Given the description of an element on the screen output the (x, y) to click on. 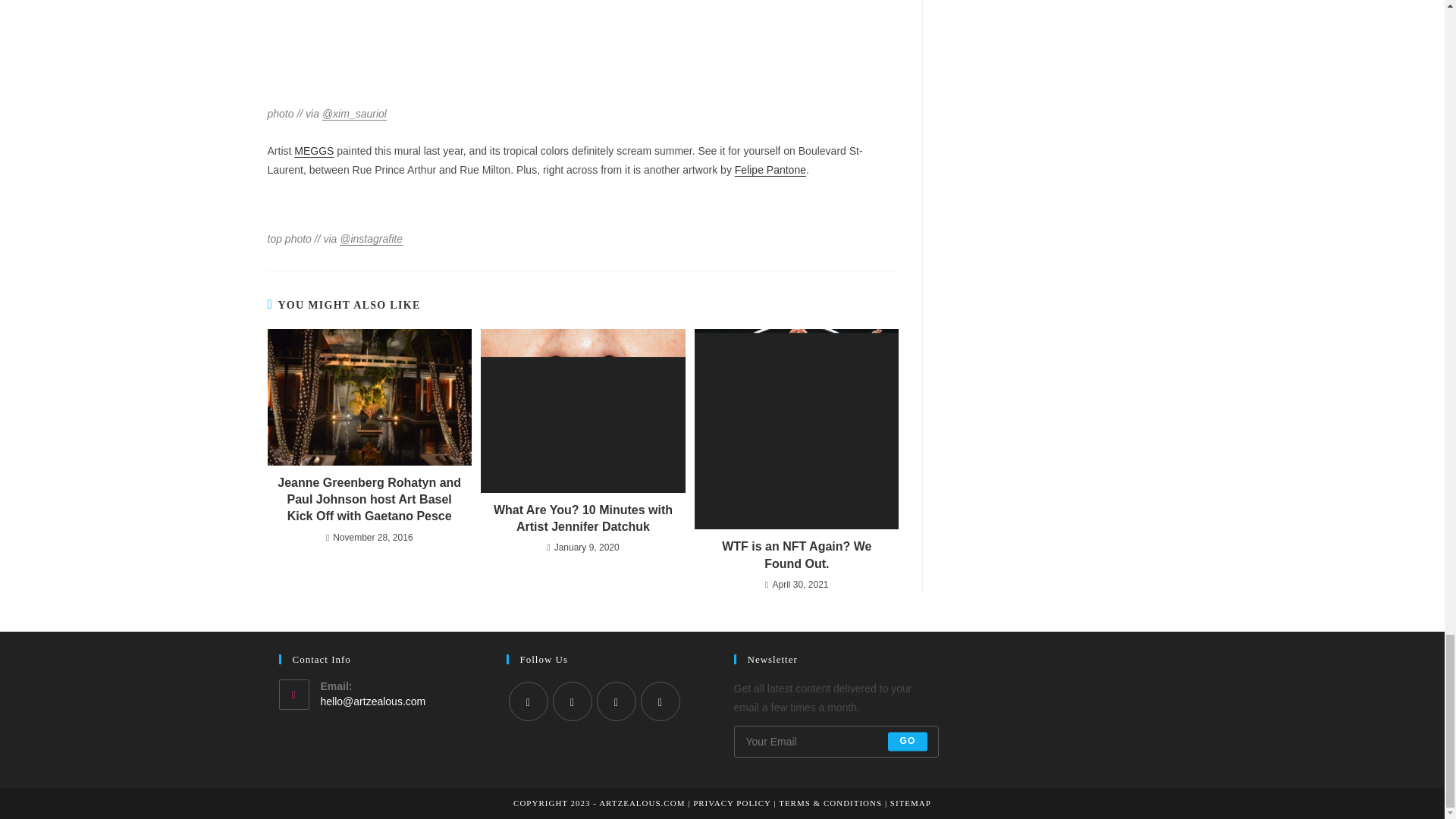
What Are You? 10 Minutes with Artist Jennifer Datchuk (582, 519)
MEGGS (313, 150)
instagrafite (371, 238)
WTF is an NFT Again? We Found Out. (796, 555)
Felipe Pantone (770, 169)
